Given the description of an element on the screen output the (x, y) to click on. 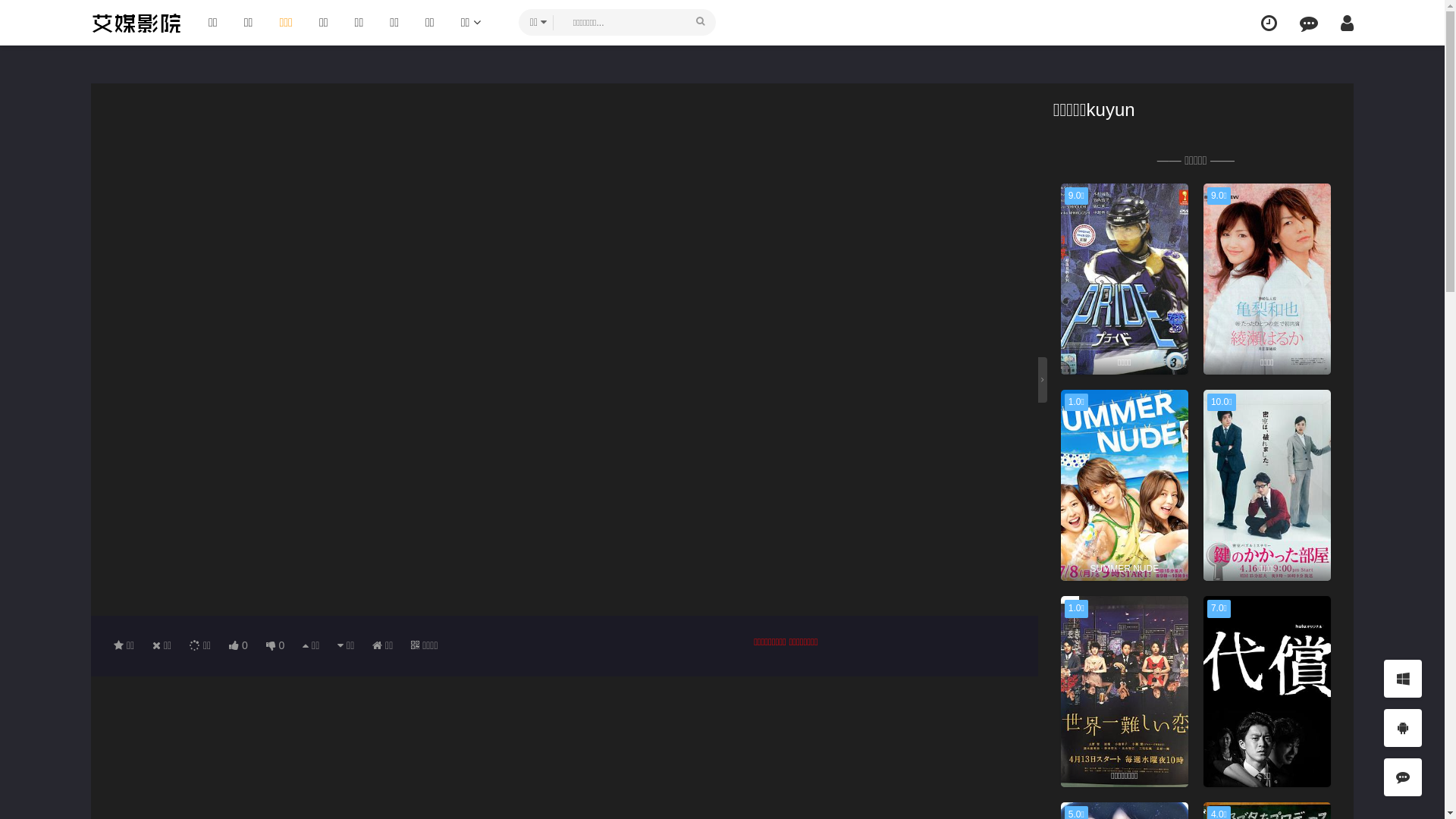
0 Element type: text (275, 645)
0 Element type: text (238, 645)
